Given the description of an element on the screen output the (x, y) to click on. 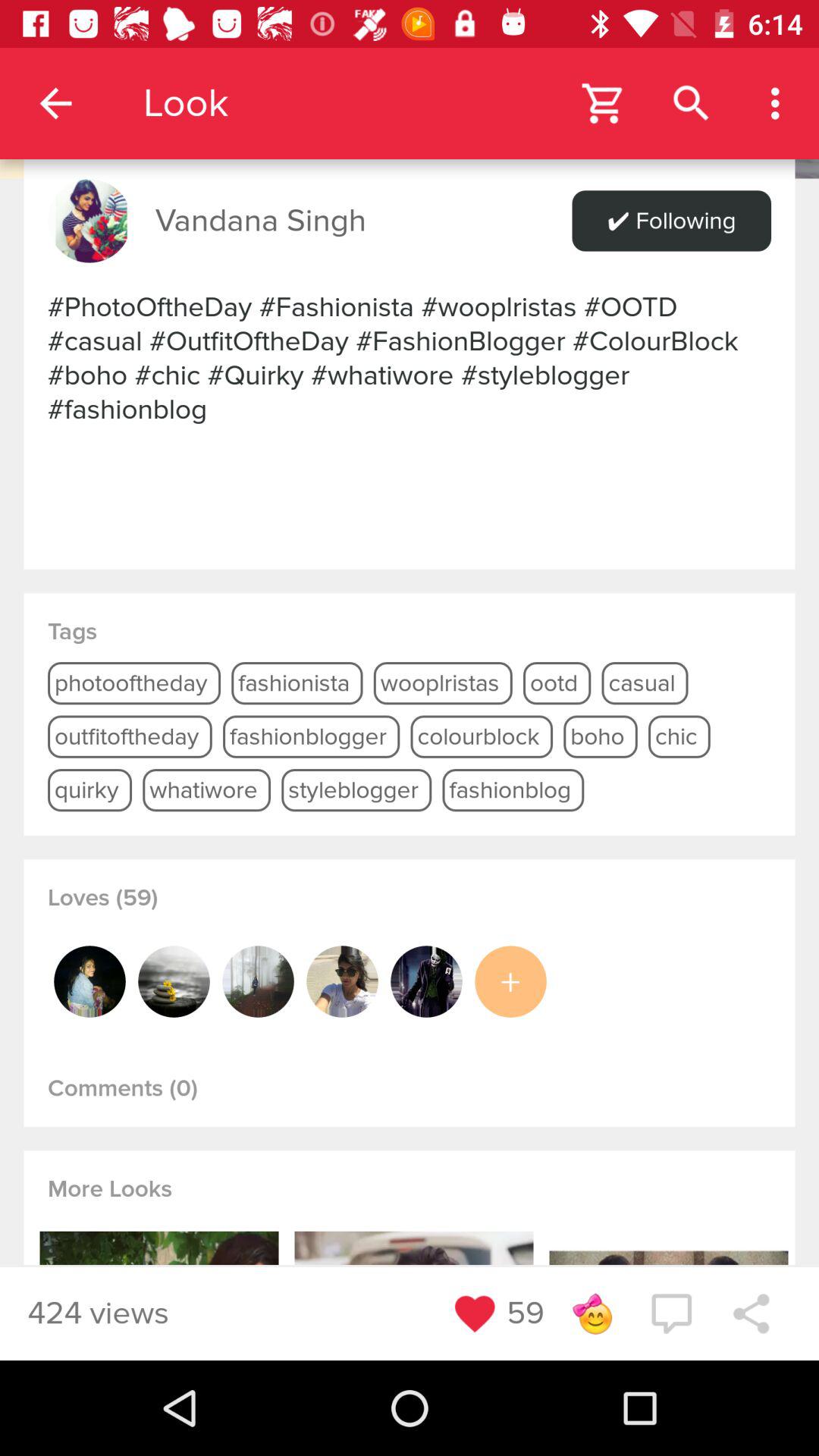
add more (510, 981)
